Given the description of an element on the screen output the (x, y) to click on. 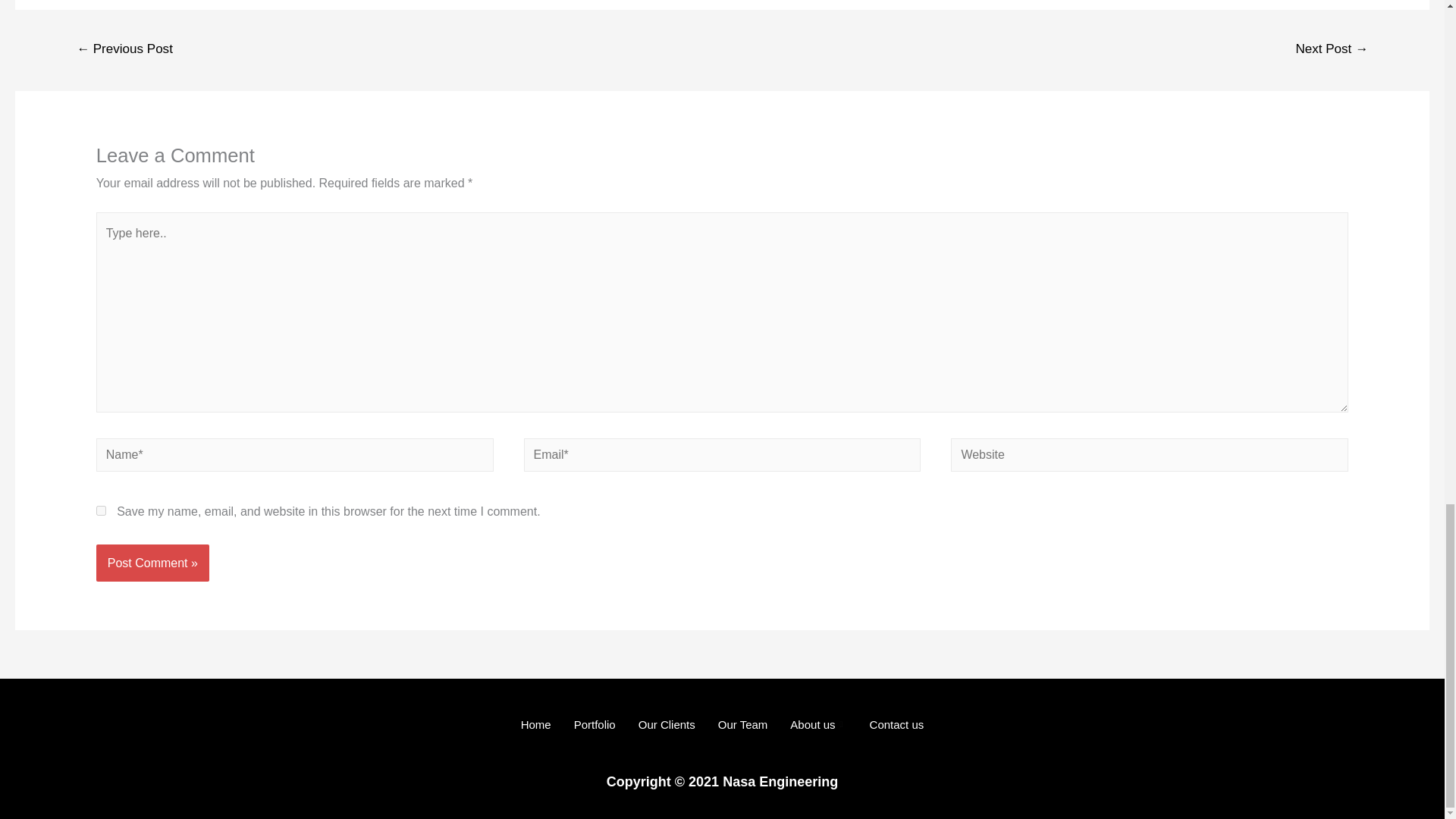
Portfolio (594, 723)
About us (817, 723)
Home (535, 723)
Our Team (742, 723)
yes (101, 510)
Our Clients (666, 723)
